Given the description of an element on the screen output the (x, y) to click on. 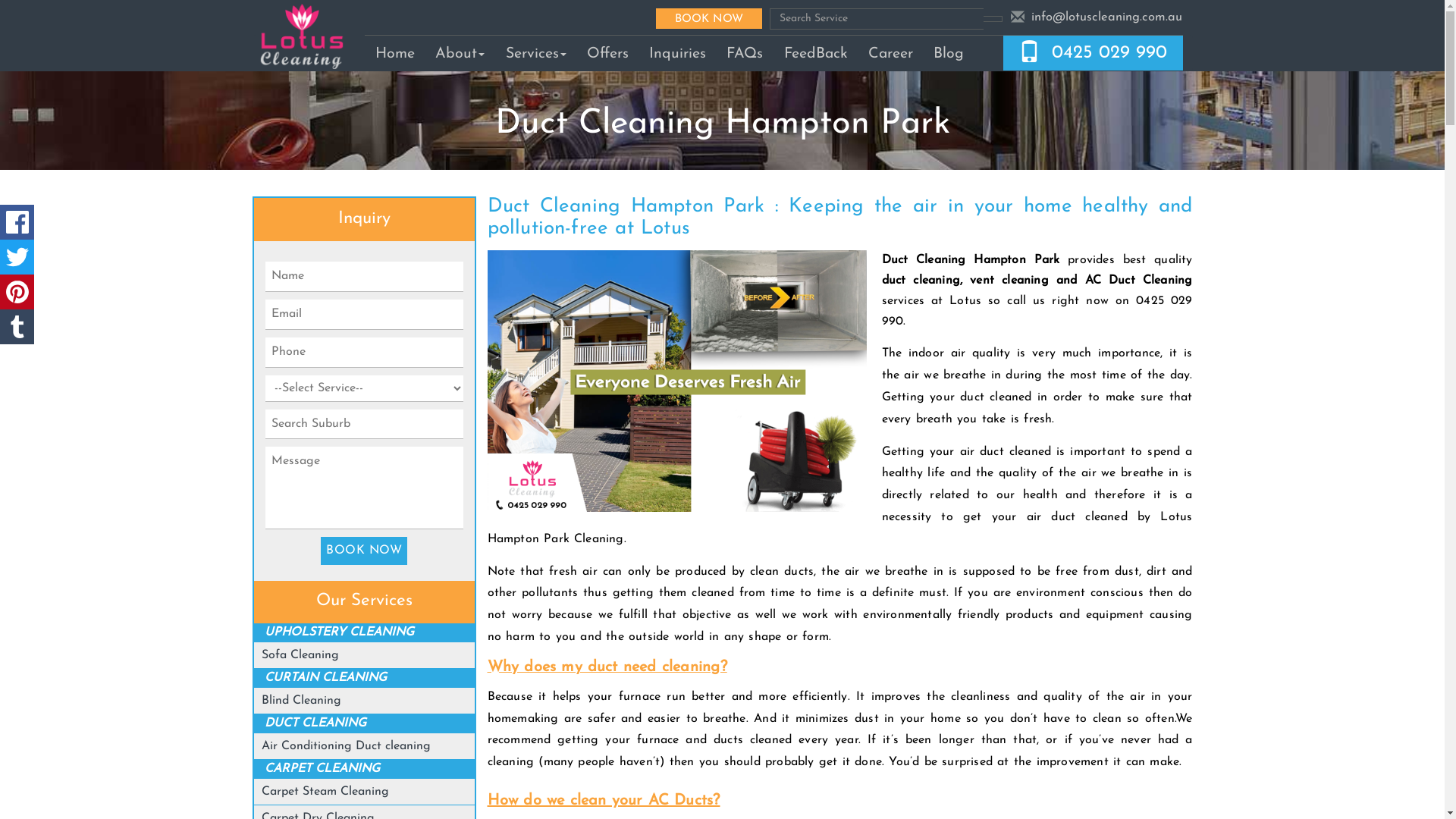
Blog Element type: text (948, 53)
Carpet Steam Cleaning Element type: text (324, 791)
share with: pinterest Element type: hover (17, 291)
info@lotuscleaning.com.au Element type: text (1106, 17)
DUCT CLEANING Element type: text (315, 723)
BOOK NOW Element type: text (363, 550)
Blind Cleaning Element type: text (301, 700)
share with: facebook Element type: hover (17, 221)
UPHOLSTERY CLEANING Element type: text (338, 632)
Sofa Cleaning Element type: text (299, 655)
Home Element type: text (394, 53)
share with: tumblr Element type: hover (17, 326)
About Element type: text (460, 53)
0425 029 990 Element type: text (1109, 52)
share with: twitter Element type: hover (17, 256)
CURTAIN CLEANING Element type: text (325, 677)
Offers Element type: text (607, 53)
FeedBack Element type: text (815, 53)
CARPET CLEANING Element type: text (321, 768)
BOOK NOW Element type: text (708, 17)
FAQs Element type: text (744, 53)
Air Conditioning Duct cleaning Element type: text (345, 746)
Services Element type: text (535, 53)
Inquiries Element type: text (676, 53)
Career Element type: text (889, 53)
